Given the description of an element on the screen output the (x, y) to click on. 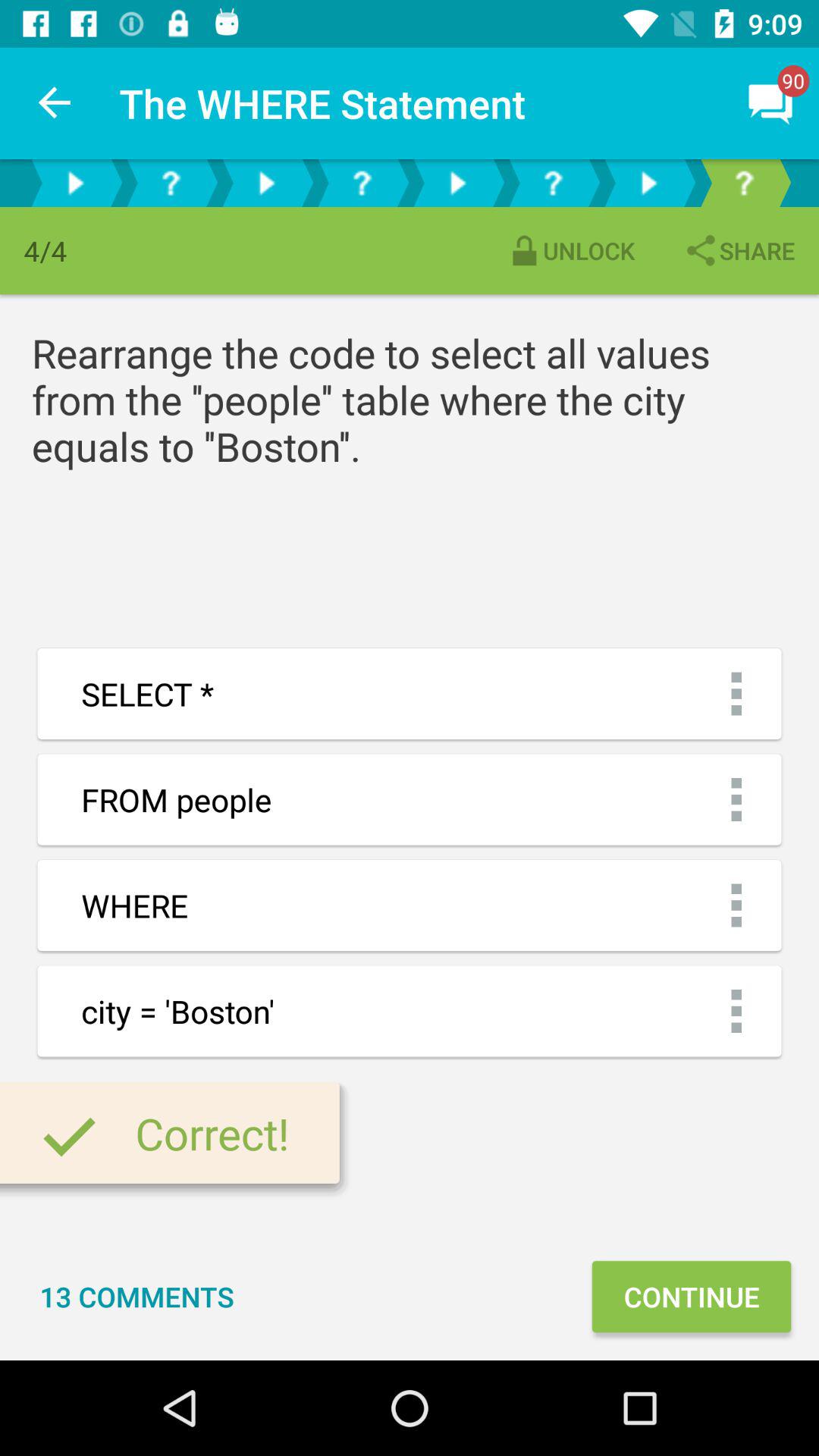
preview next (648, 183)
